Given the description of an element on the screen output the (x, y) to click on. 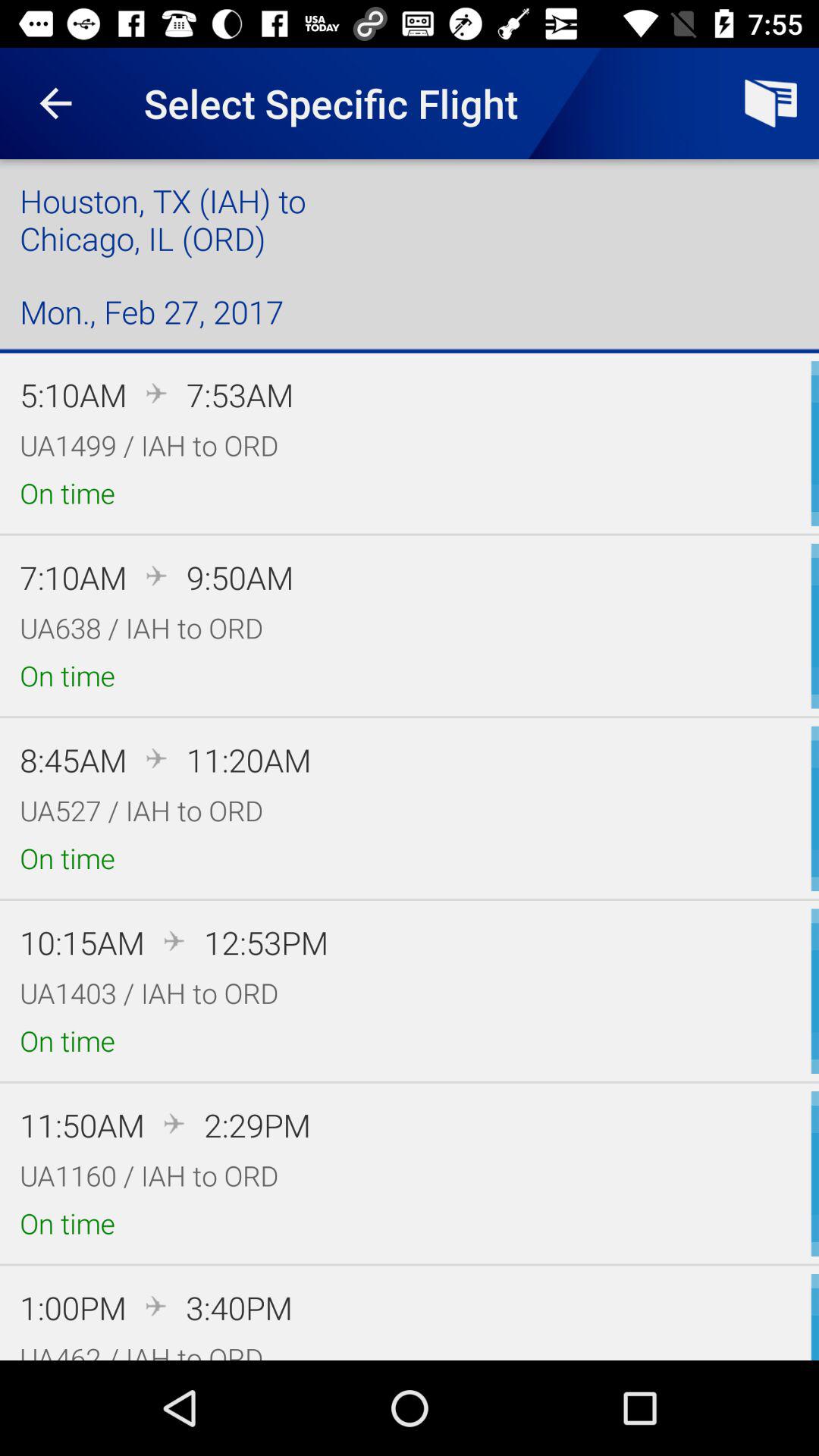
scroll until the 2:29pm icon (257, 1124)
